Given the description of an element on the screen output the (x, y) to click on. 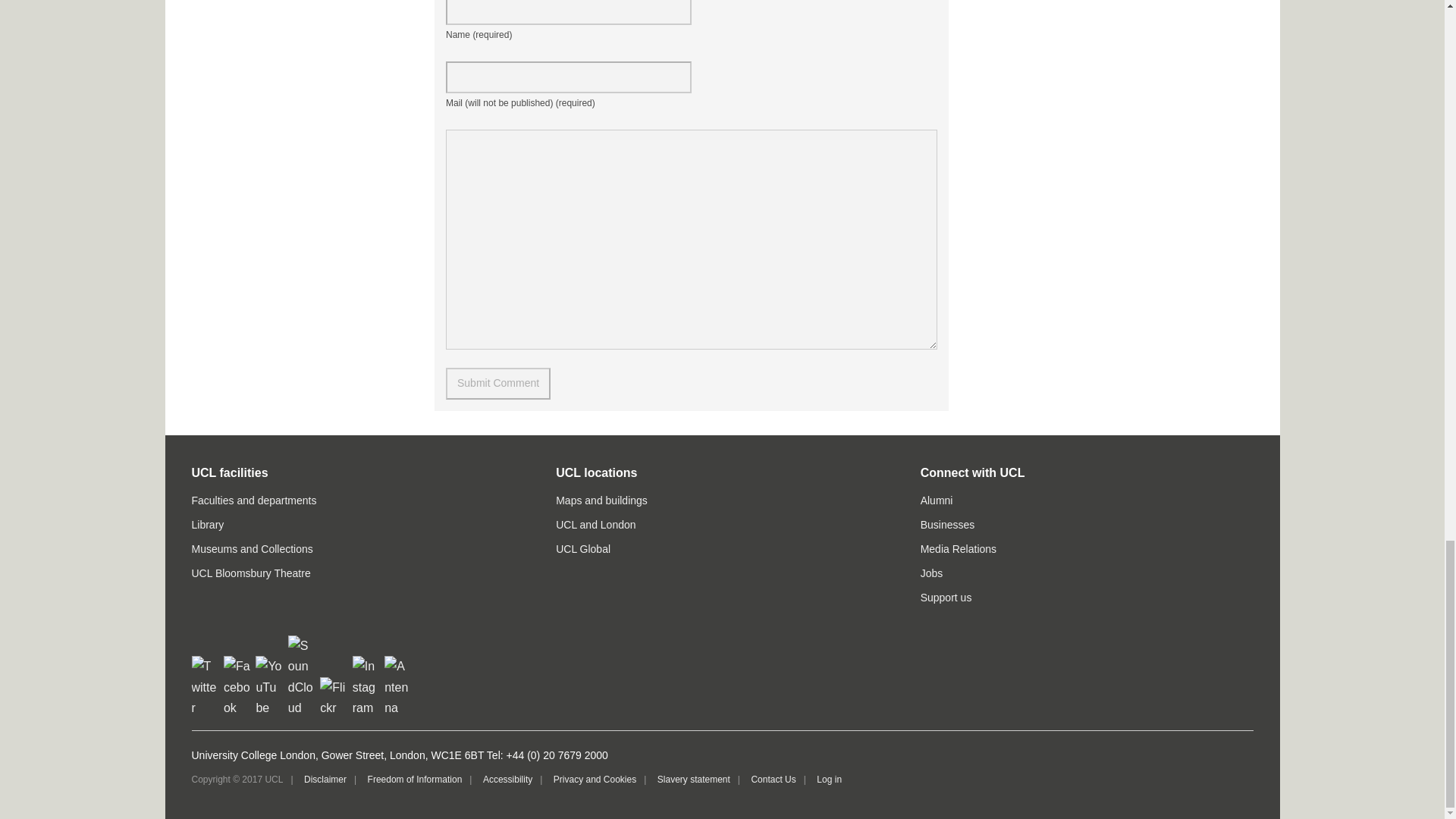
UCL Global (583, 548)
Businesses (947, 524)
Faculties and departments (252, 500)
Jobs (931, 573)
Support us (946, 597)
Alumni (936, 500)
Maps and buildings (601, 500)
UCL Bloomsbury Theatre (250, 573)
Submit Comment (497, 383)
Library (207, 524)
